Given the description of an element on the screen output the (x, y) to click on. 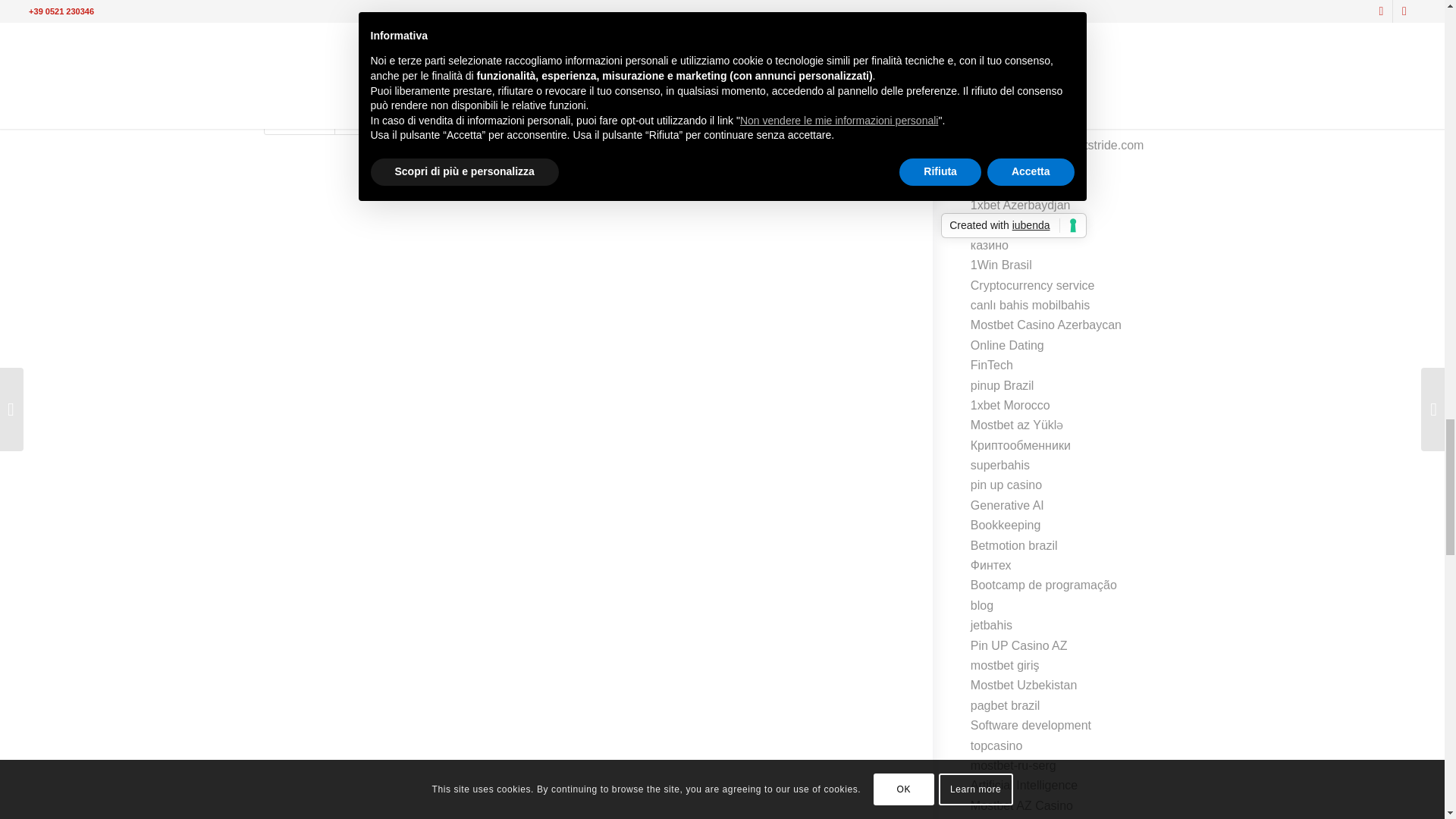
Fai clic per condividere su X (369, 8)
Fai clic per condividere su Facebook (301, 8)
Facebook (301, 8)
X (369, 8)
